Given the description of an element on the screen output the (x, y) to click on. 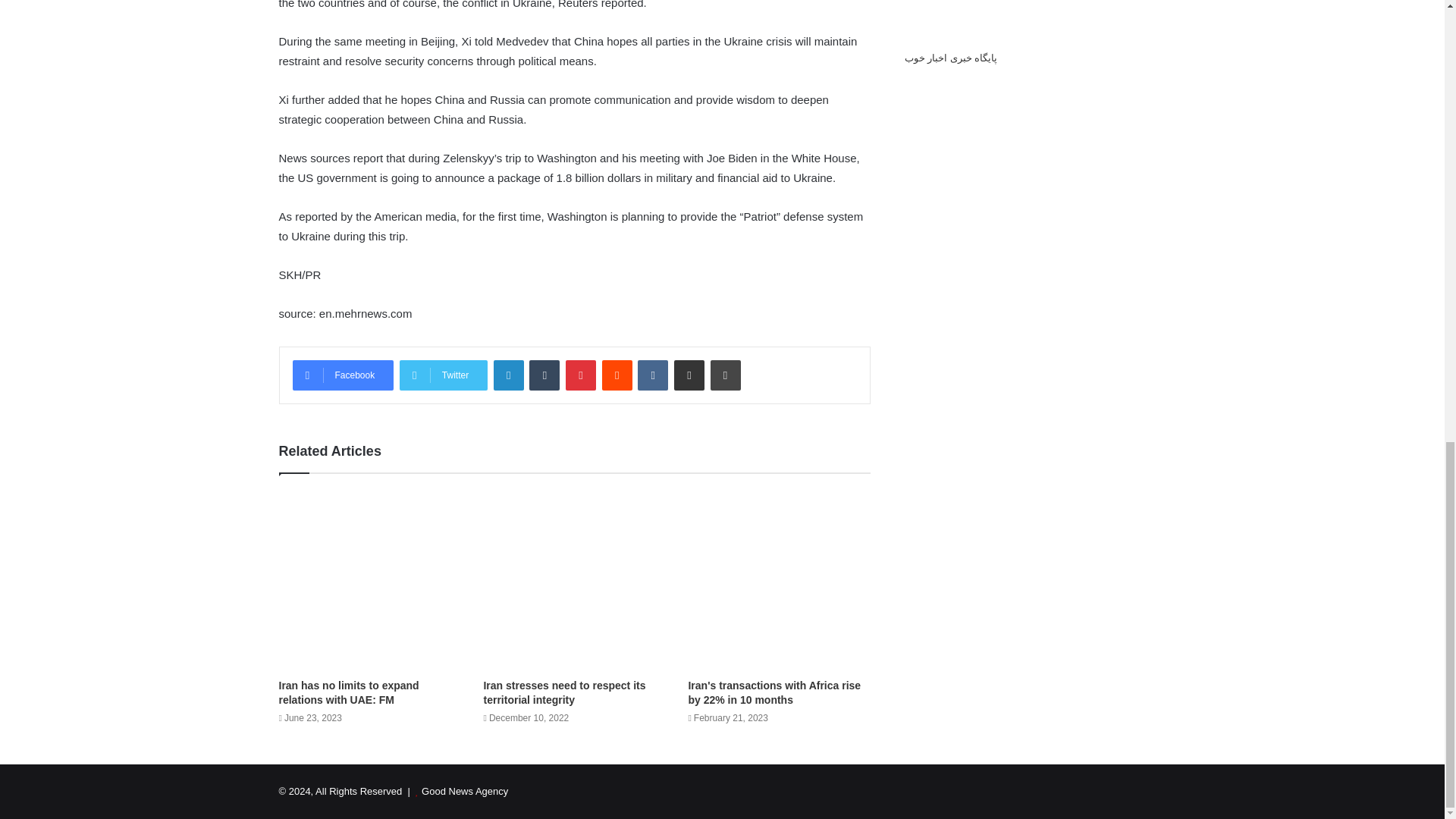
Facebook (343, 375)
Share via Email (689, 375)
Pinterest (580, 375)
Facebook (343, 375)
Pinterest (580, 375)
Print (725, 375)
VKontakte (652, 375)
Twitter (442, 375)
Print (725, 375)
Iran stresses need to respect its territorial integrity (564, 692)
